Given the description of an element on the screen output the (x, y) to click on. 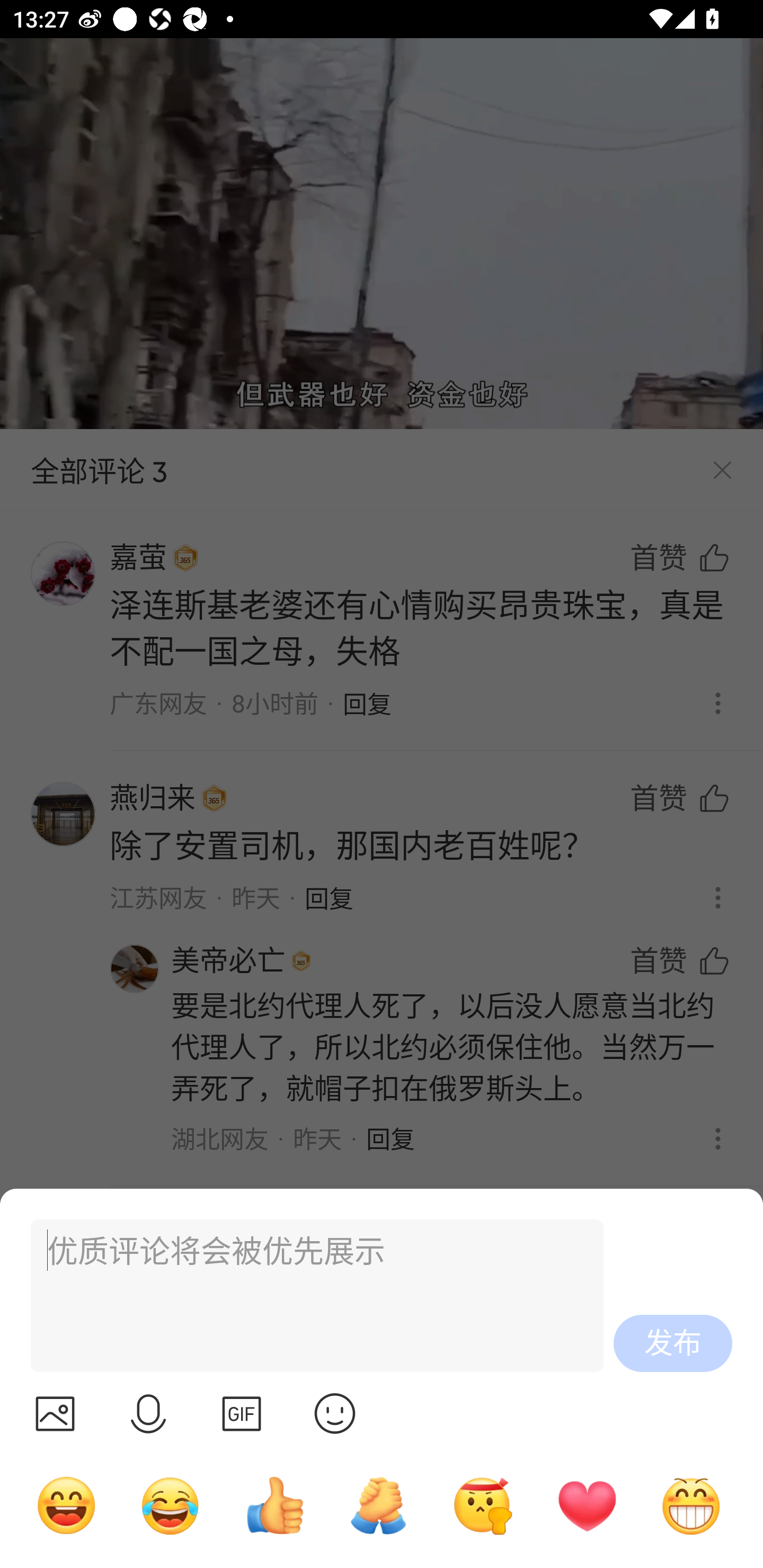
优质评论将会被优先展示 (308, 1295)
发布 (672, 1343)
 (54, 1413)
 (148, 1413)
 (241, 1413)
 (334, 1413)
哈哈 (66, 1505)
哭笑 (170, 1505)
点赞 (274, 1505)
加油 (378, 1505)
奋斗 (482, 1505)
心 (586, 1505)
呲牙 (690, 1505)
